Given the description of an element on the screen output the (x, y) to click on. 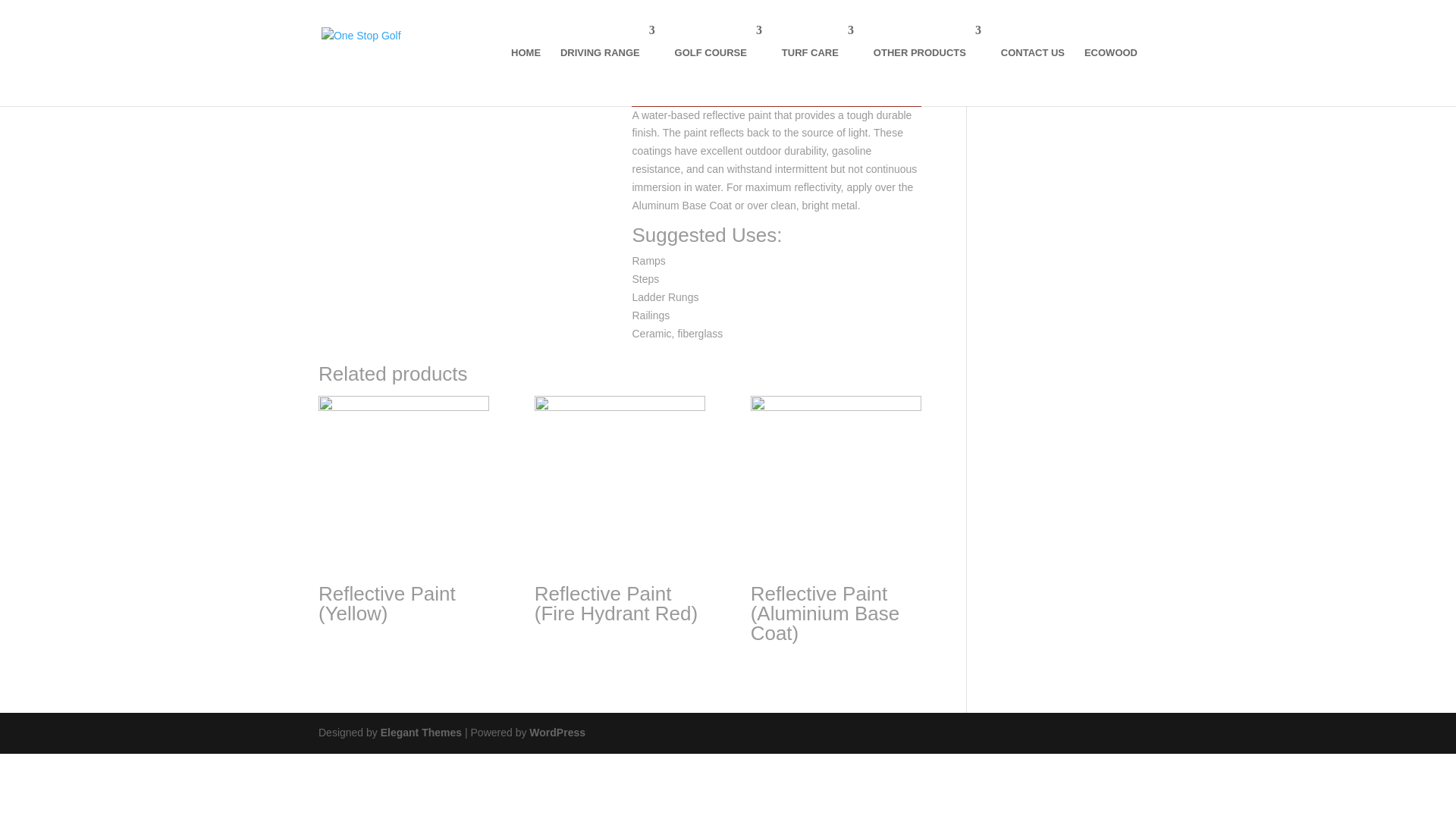
Search (1112, 59)
Premium WordPress Themes (420, 732)
TURF CARE (817, 54)
GOLF COURSE (718, 54)
OTHER PRODUCTS (927, 54)
DRIVING RANGE (607, 54)
